Given the description of an element on the screen output the (x, y) to click on. 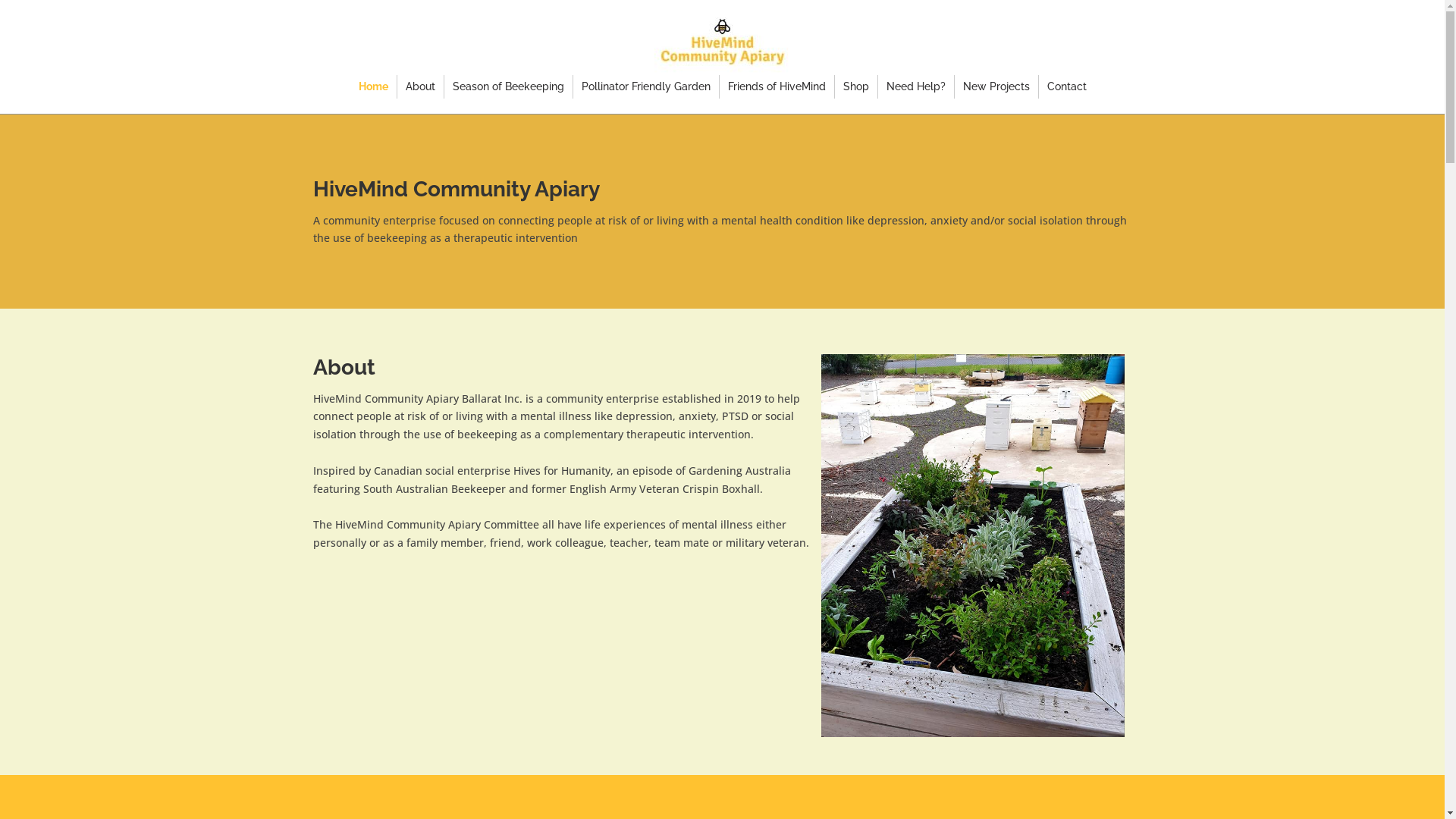
Friends of HiveMind Element type: text (776, 86)
Contact Element type: text (1065, 86)
New Projects Element type: text (996, 86)
Shop Element type: text (856, 86)
Season of Beekeeping Element type: text (507, 86)
Home Element type: text (372, 86)
About Element type: text (419, 86)
Need Help? Element type: text (914, 86)
Pollinator Friendly Garden Element type: text (644, 86)
